Given the description of an element on the screen output the (x, y) to click on. 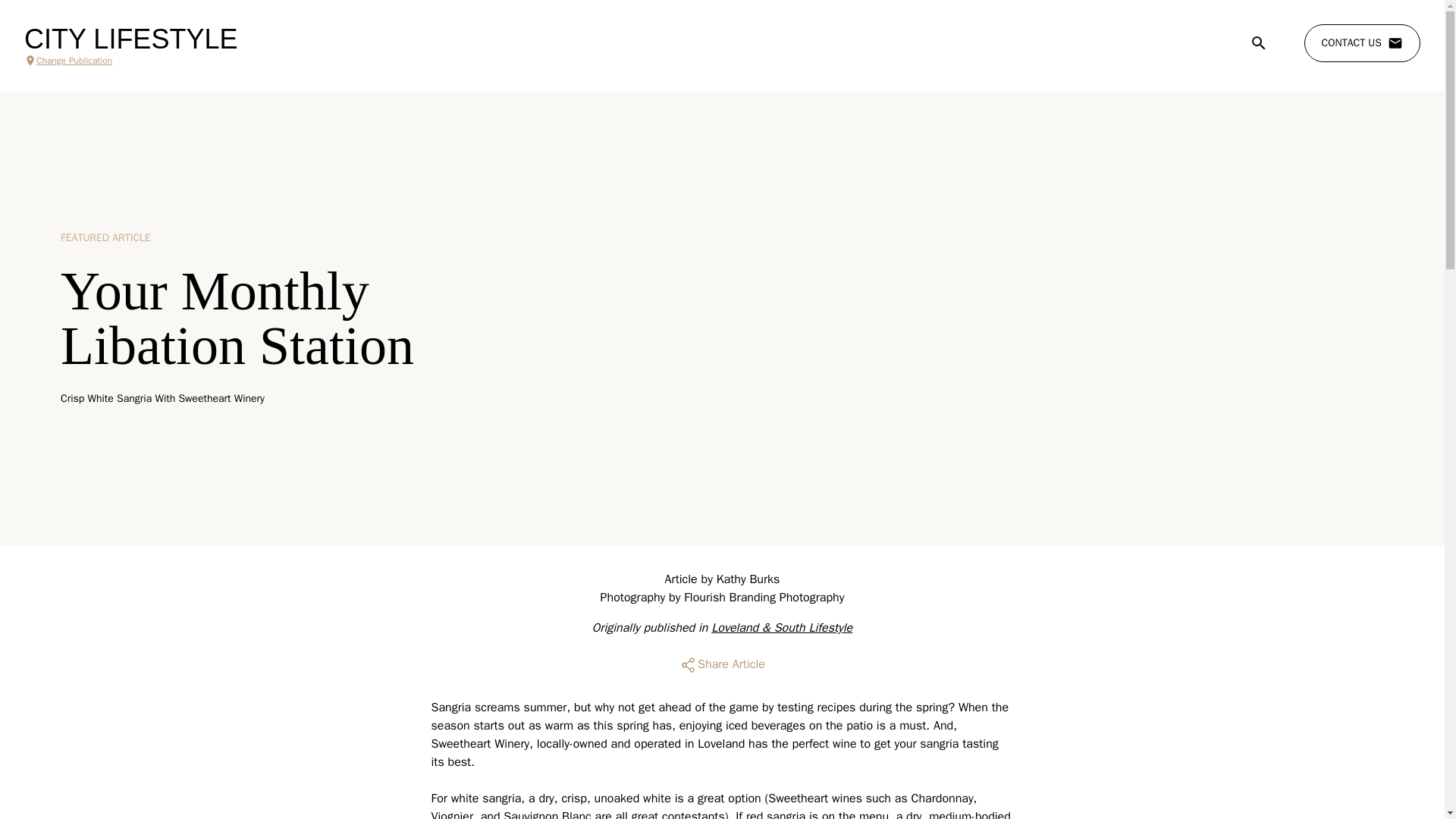
CONTACT US (1362, 43)
Change Publication (130, 60)
Share Article (722, 664)
CITY LIFESTYLE (130, 39)
